Given the description of an element on the screen output the (x, y) to click on. 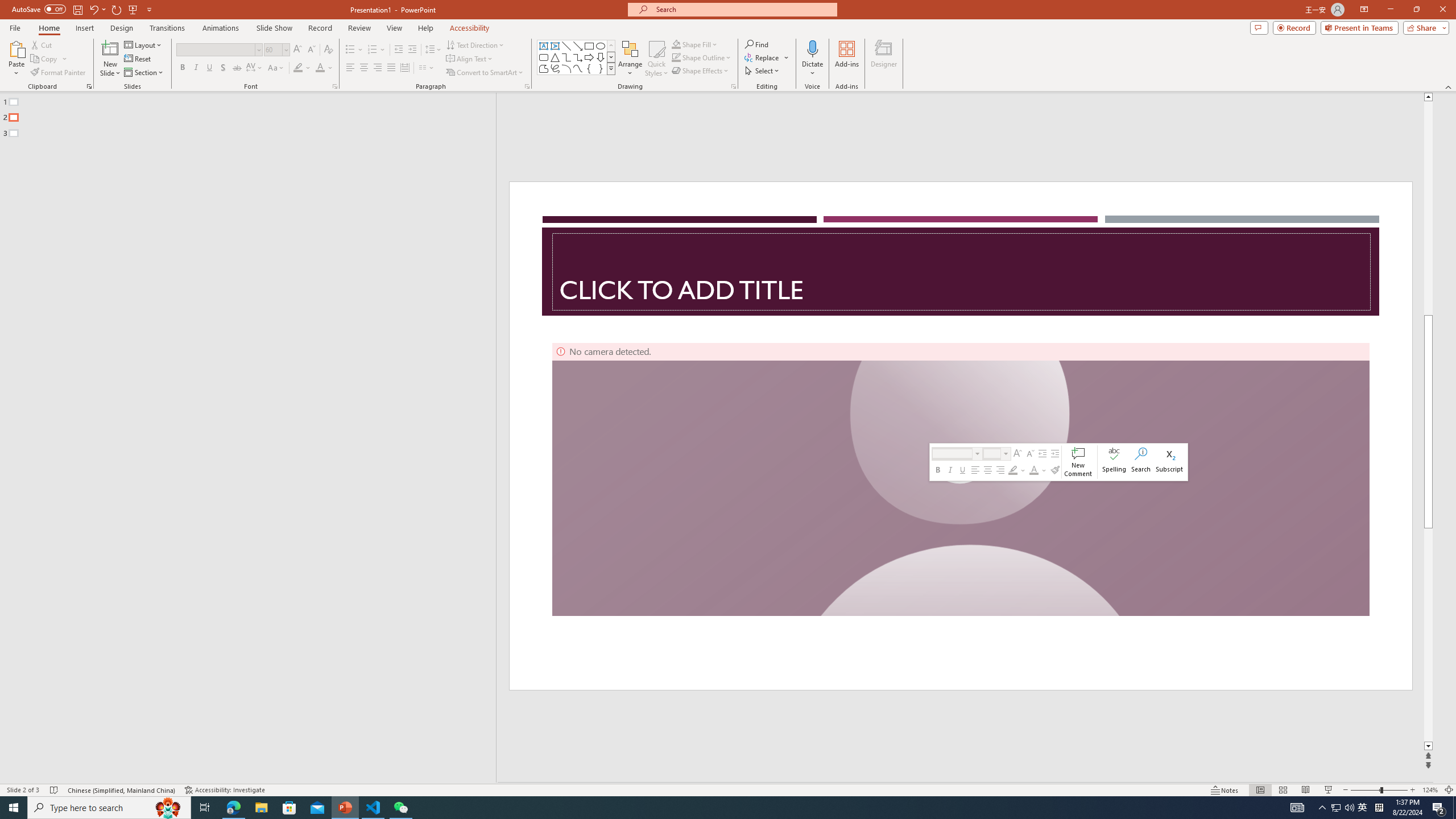
Subscript (1169, 462)
Class: NetUITextbox (991, 452)
